Given the description of an element on the screen output the (x, y) to click on. 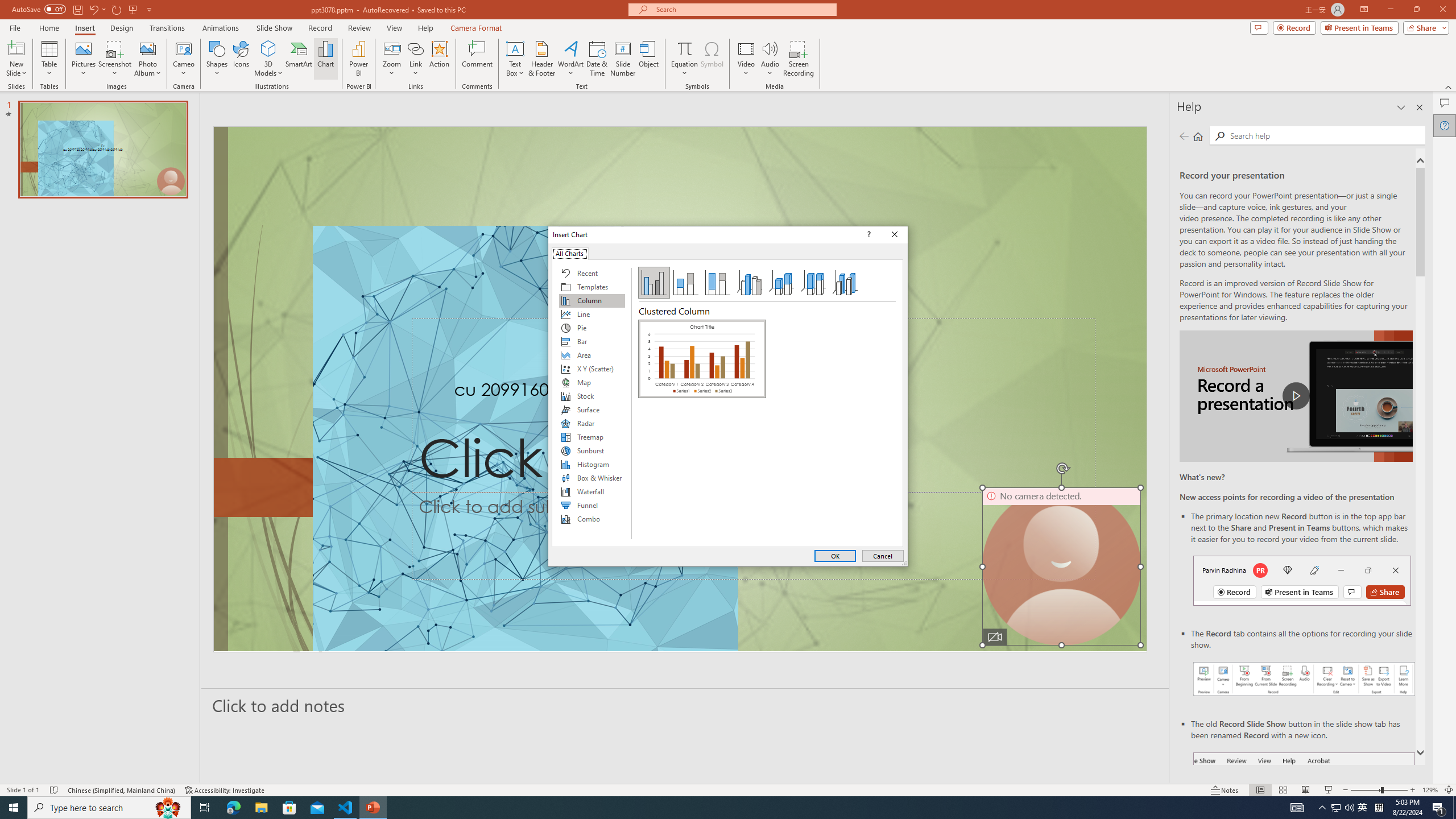
Waterfall (591, 491)
Slide Number (622, 58)
Funnel (591, 505)
Stacked Column (685, 282)
3-D Clustered Column (749, 282)
Symbol... (711, 58)
